Given the description of an element on the screen output the (x, y) to click on. 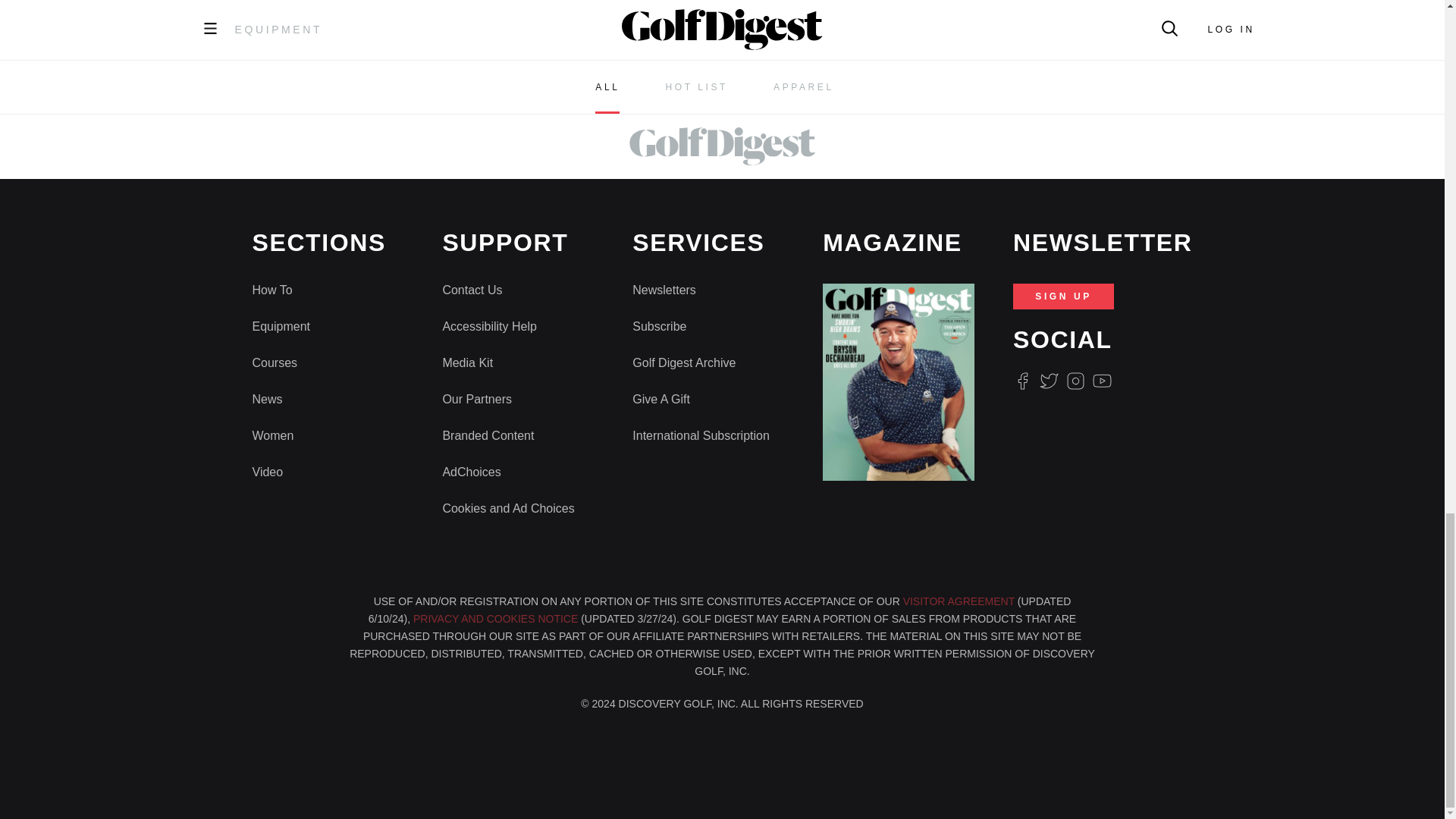
Instagram Logo (1074, 380)
Facebook Logo (1022, 380)
Twitter Logo (1048, 380)
Youtube Icon (1102, 380)
